Given the description of an element on the screen output the (x, y) to click on. 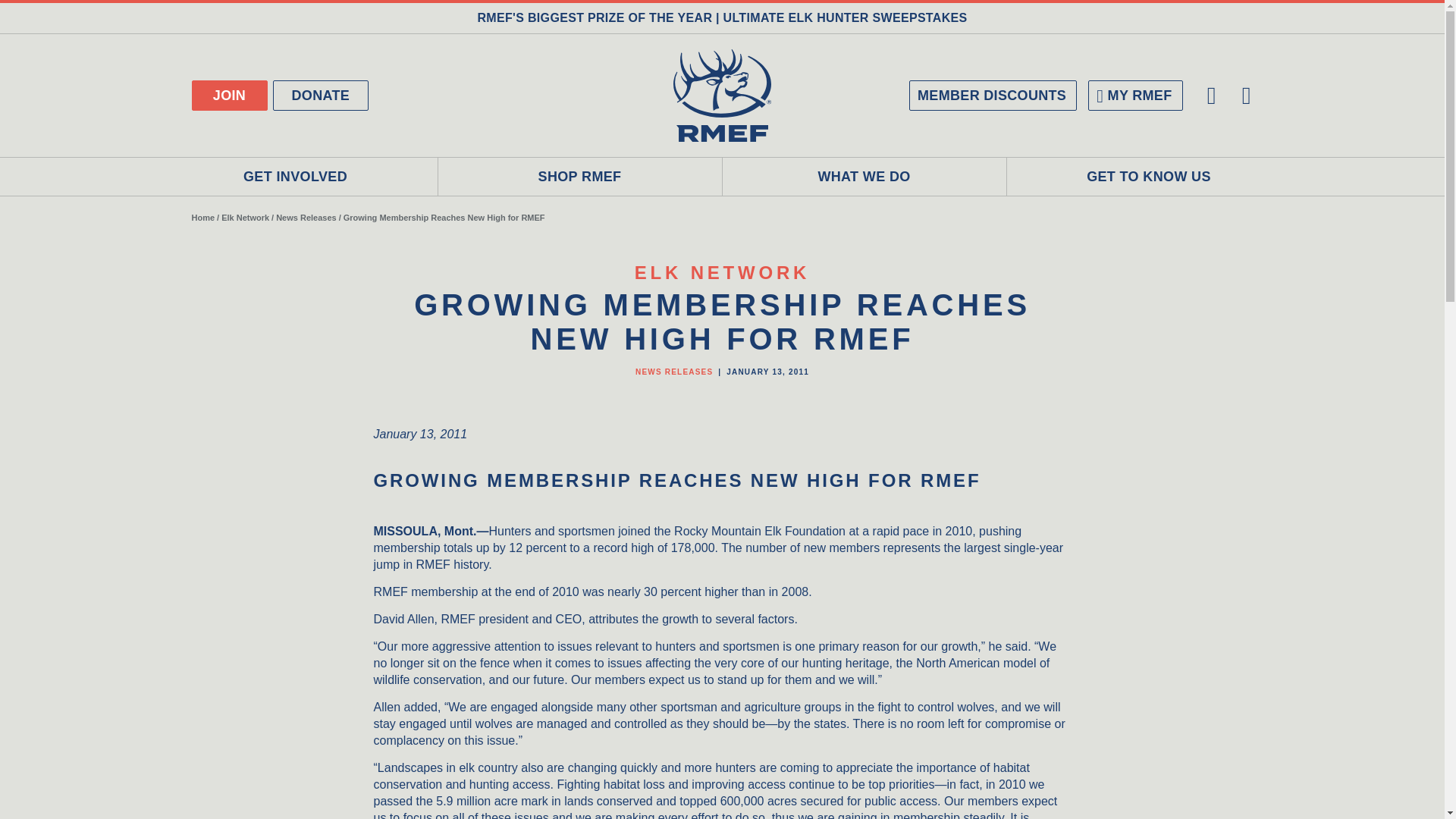
WHAT WE DO (864, 176)
GET TO KNOW US (1149, 176)
GET INVOLVED (295, 176)
DONATE (321, 95)
SHOP RMEF (580, 176)
MY RMEF (1134, 95)
JOIN (228, 95)
MEMBER DISCOUNTS (992, 95)
